Given the description of an element on the screen output the (x, y) to click on. 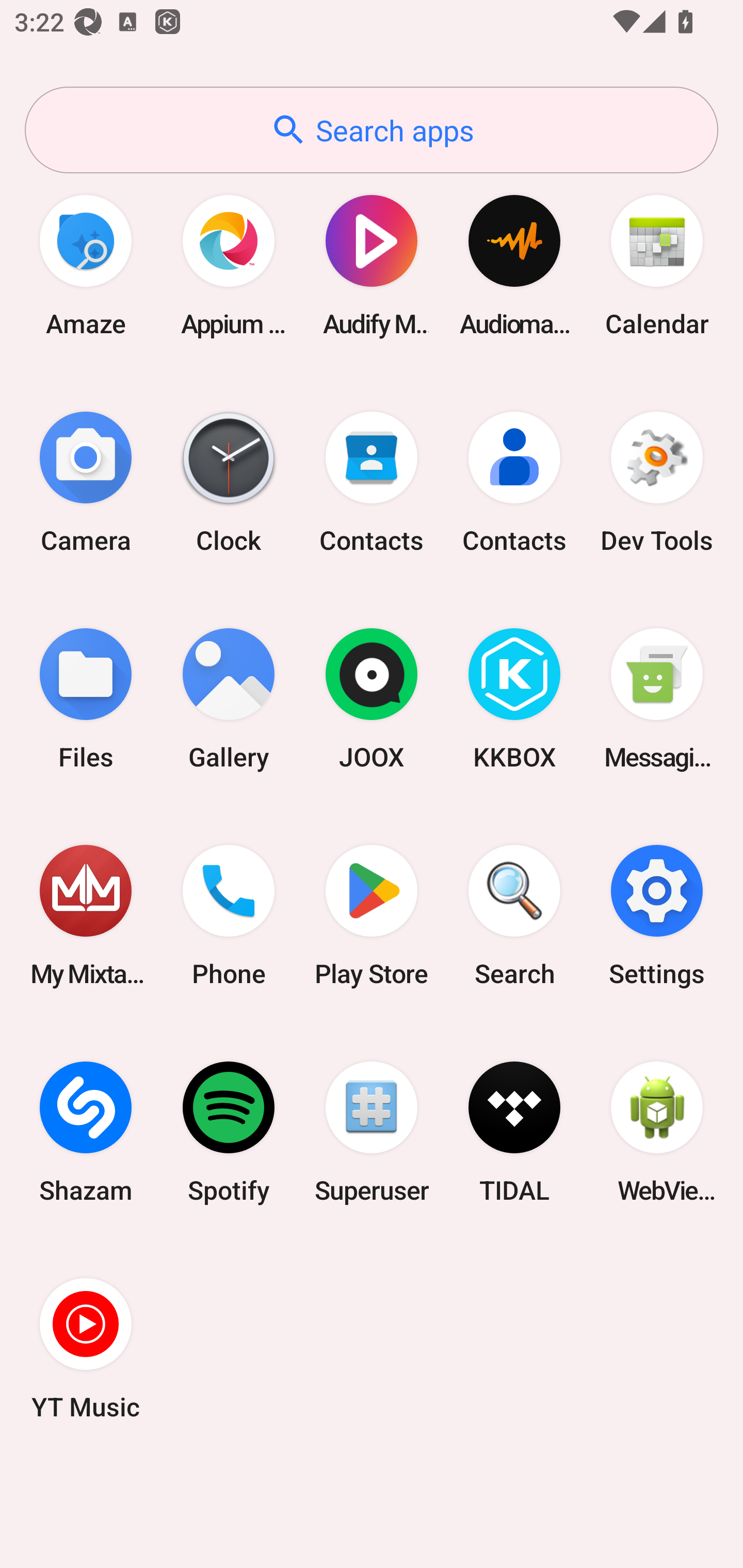
  Search apps (371, 130)
Amaze (85, 264)
Appium Settings (228, 264)
Audify Music Player (371, 264)
Audio­mack (514, 264)
Calendar (656, 264)
Camera (85, 482)
Clock (228, 482)
Contacts (371, 482)
Contacts (514, 482)
Dev Tools (656, 482)
Files (85, 699)
Gallery (228, 699)
JOOX (371, 699)
KKBOX (514, 699)
Messaging (656, 699)
My Mixtapez (85, 915)
Phone (228, 915)
Play Store (371, 915)
Search (514, 915)
Settings (656, 915)
Shazam (85, 1131)
Spotify (228, 1131)
Superuser (371, 1131)
TIDAL (514, 1131)
WebView Browser Tester (656, 1131)
YT Music (85, 1348)
